Given the description of an element on the screen output the (x, y) to click on. 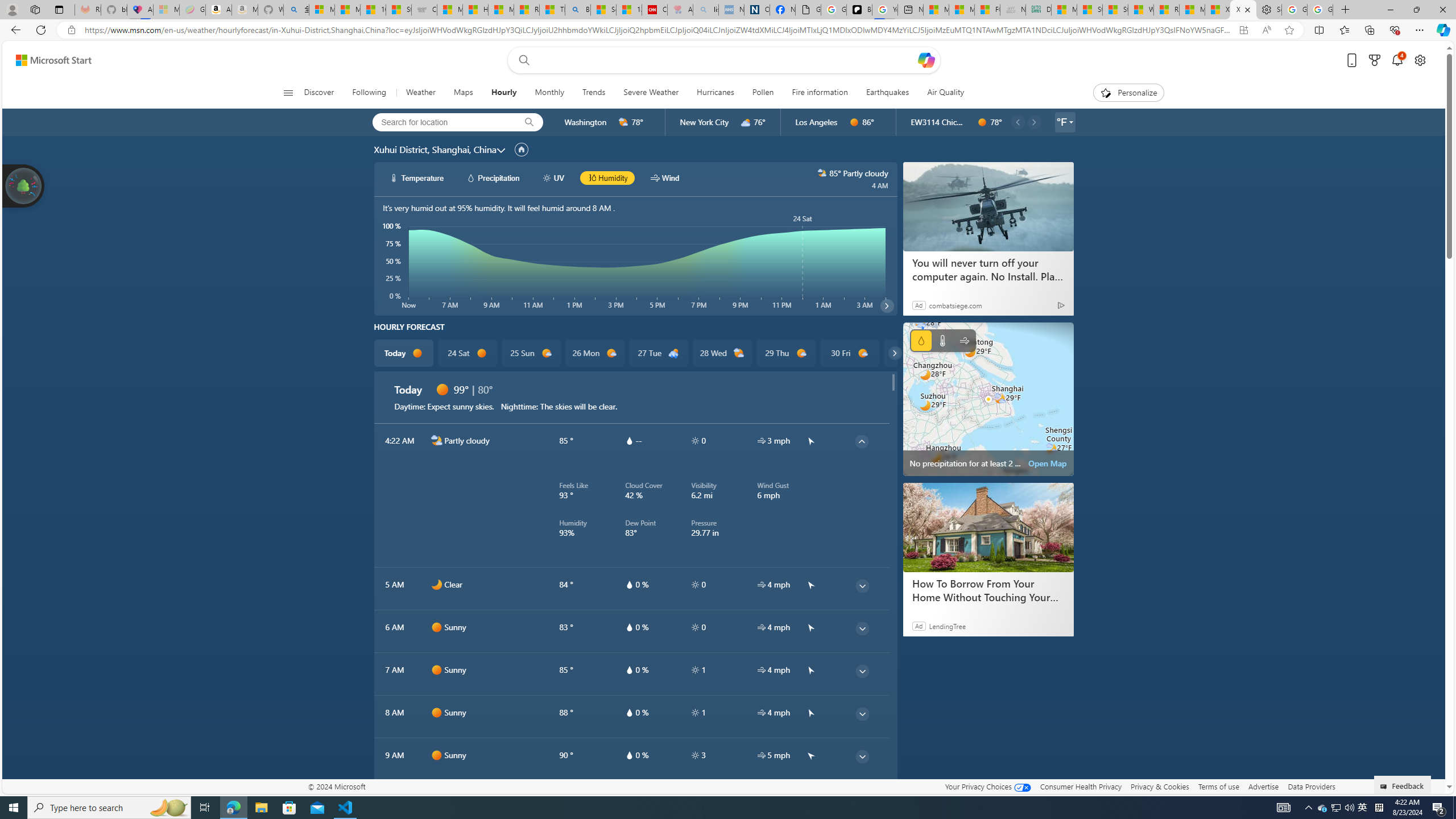
Be Smart | creating Science videos | Patreon (858, 9)
n2000 (436, 440)
n0000 (436, 584)
Hurricanes (715, 92)
d2200 (673, 353)
hourlyTable/wind (761, 755)
Your Privacy Choices (987, 786)
31 Sat d1000 (913, 352)
Class: miniMapRadarSVGView-DS-EntryPoint1-1 (988, 398)
